Given the description of an element on the screen output the (x, y) to click on. 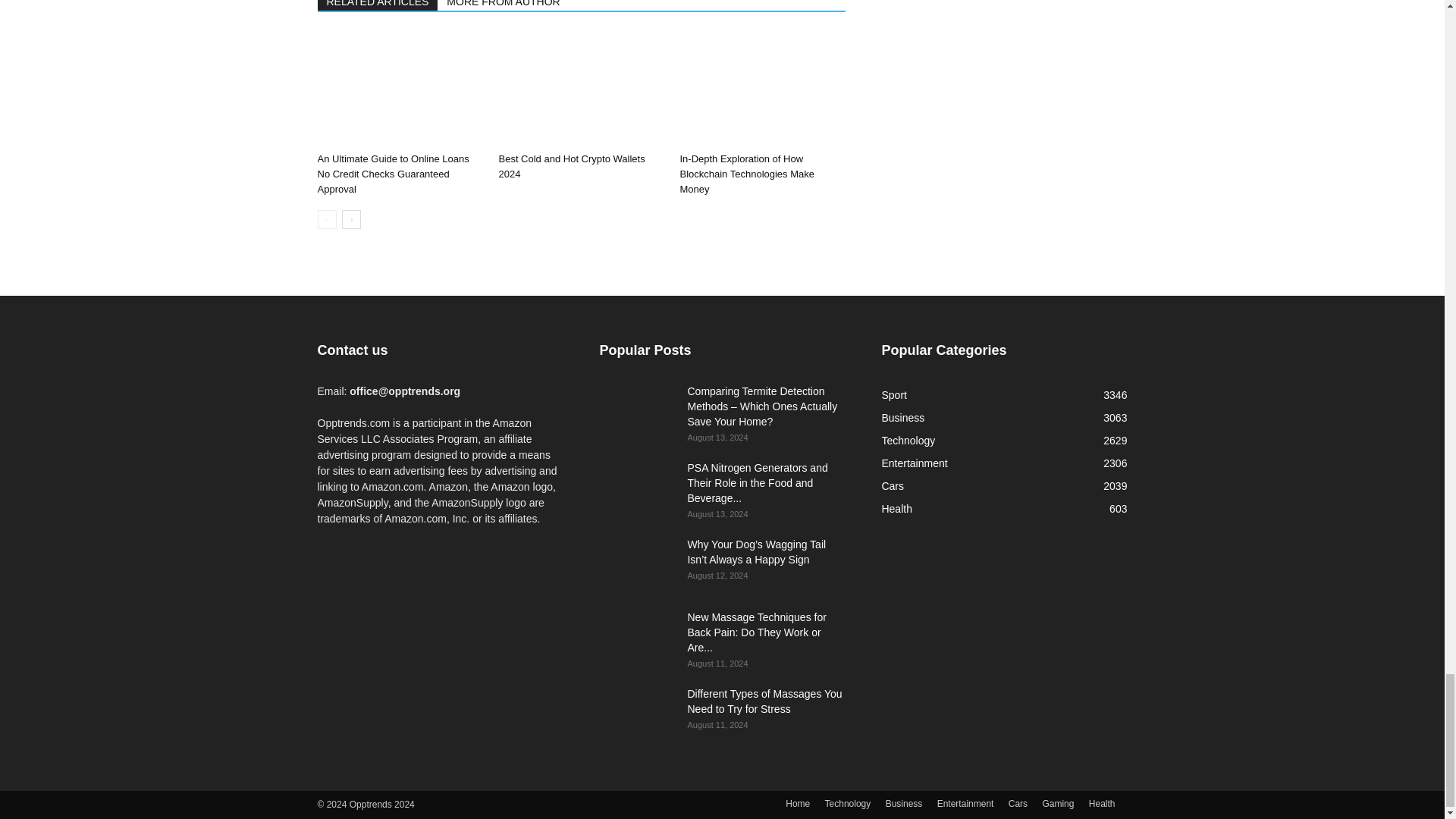
Best Cold and Hot Crypto Wallets 2024 (580, 89)
